Given the description of an element on the screen output the (x, y) to click on. 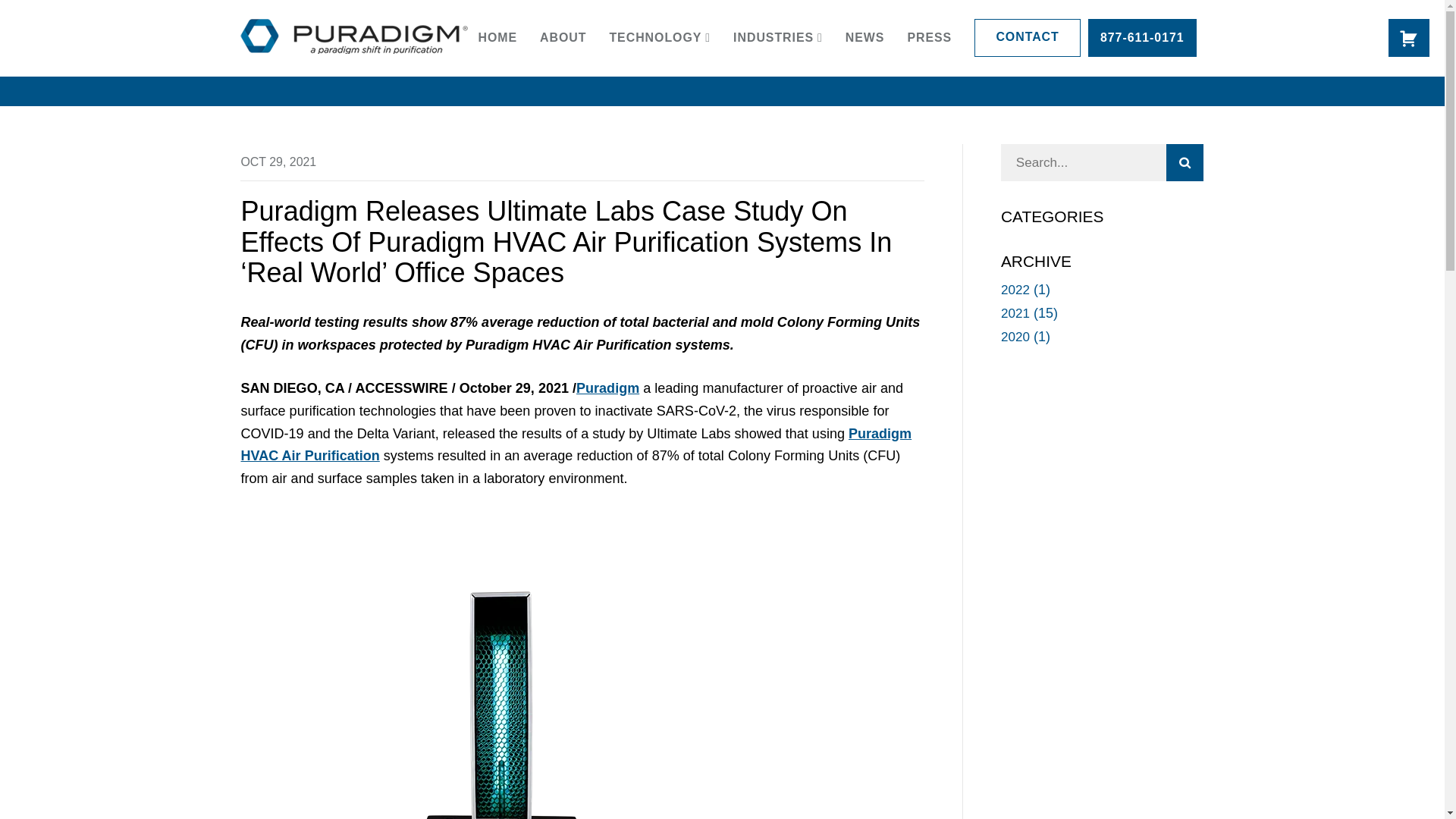
ABOUT (563, 37)
TECHNOLOGY (659, 37)
HOME (498, 37)
INDUSTRIES (777, 37)
Search (1185, 162)
CONTACT (1027, 37)
PRESS (929, 37)
NEWS (865, 37)
877-611-0171 (1141, 37)
